Given the description of an element on the screen output the (x, y) to click on. 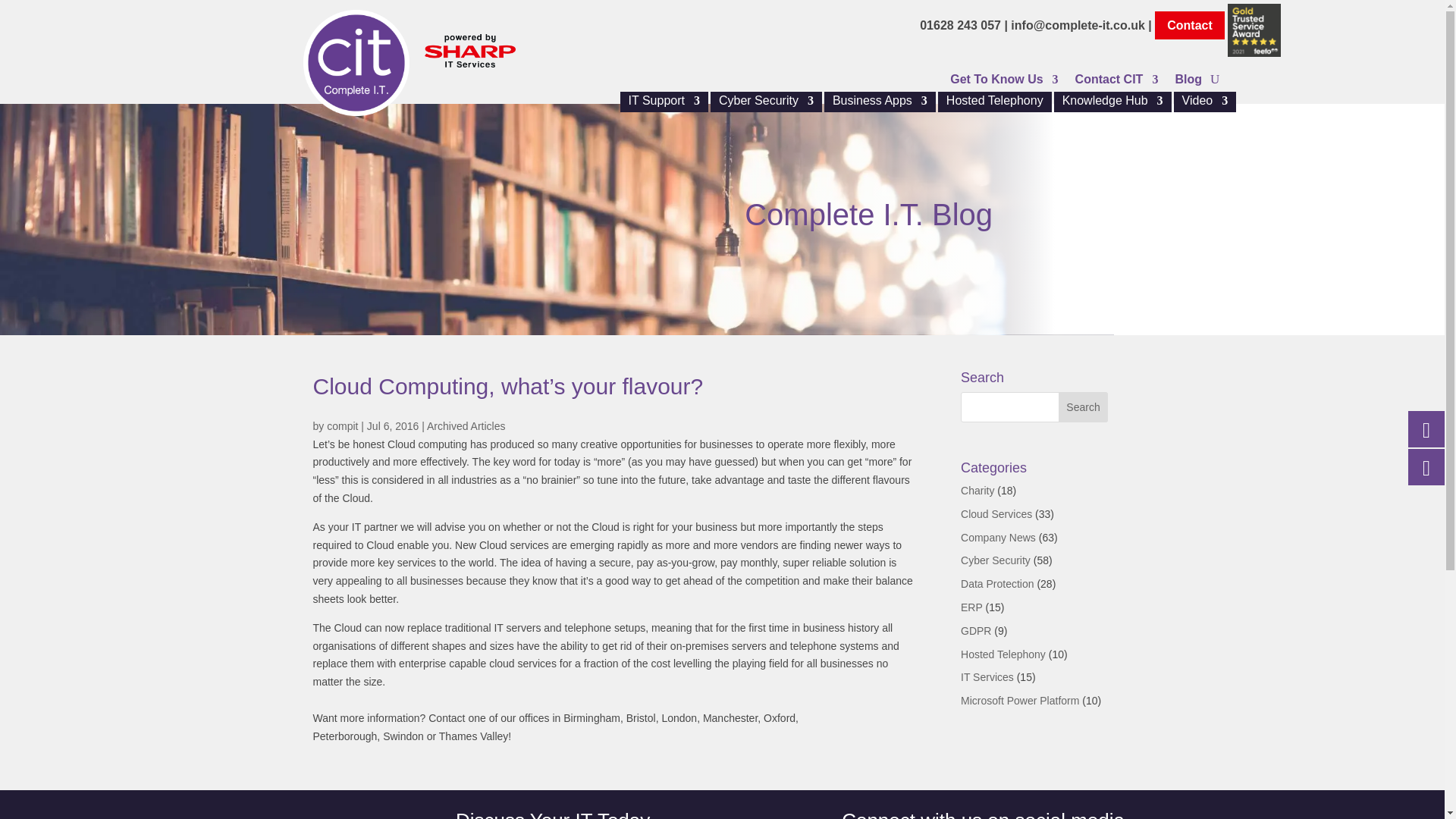
Contact (1189, 25)
Contact CIT (1116, 82)
Search (1083, 407)
Posts by compit (342, 426)
IT Support (664, 103)
Get To Know Us (1004, 82)
Blog (1188, 82)
